Given the description of an element on the screen output the (x, y) to click on. 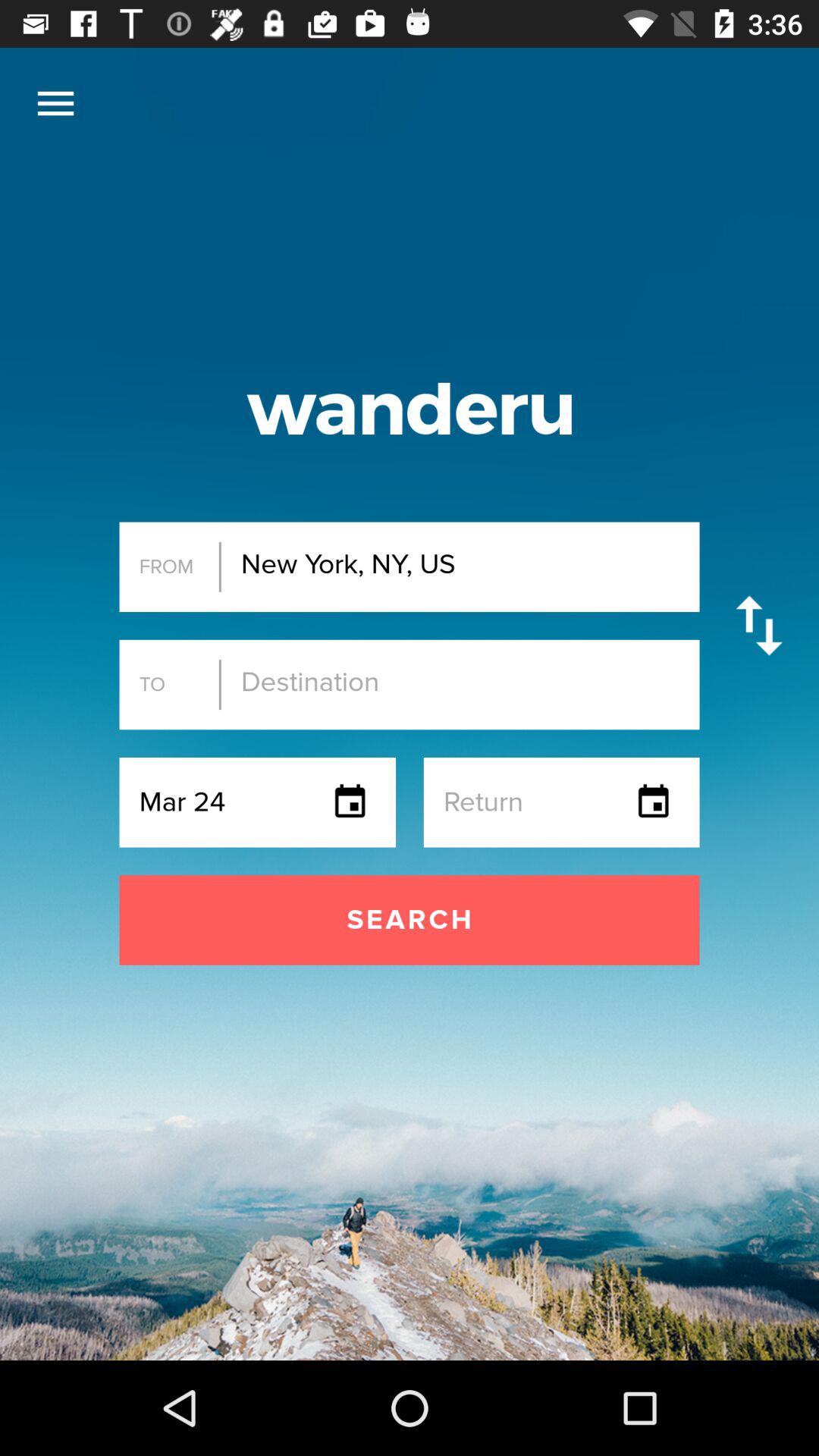
open settings (55, 103)
